Given the description of an element on the screen output the (x, y) to click on. 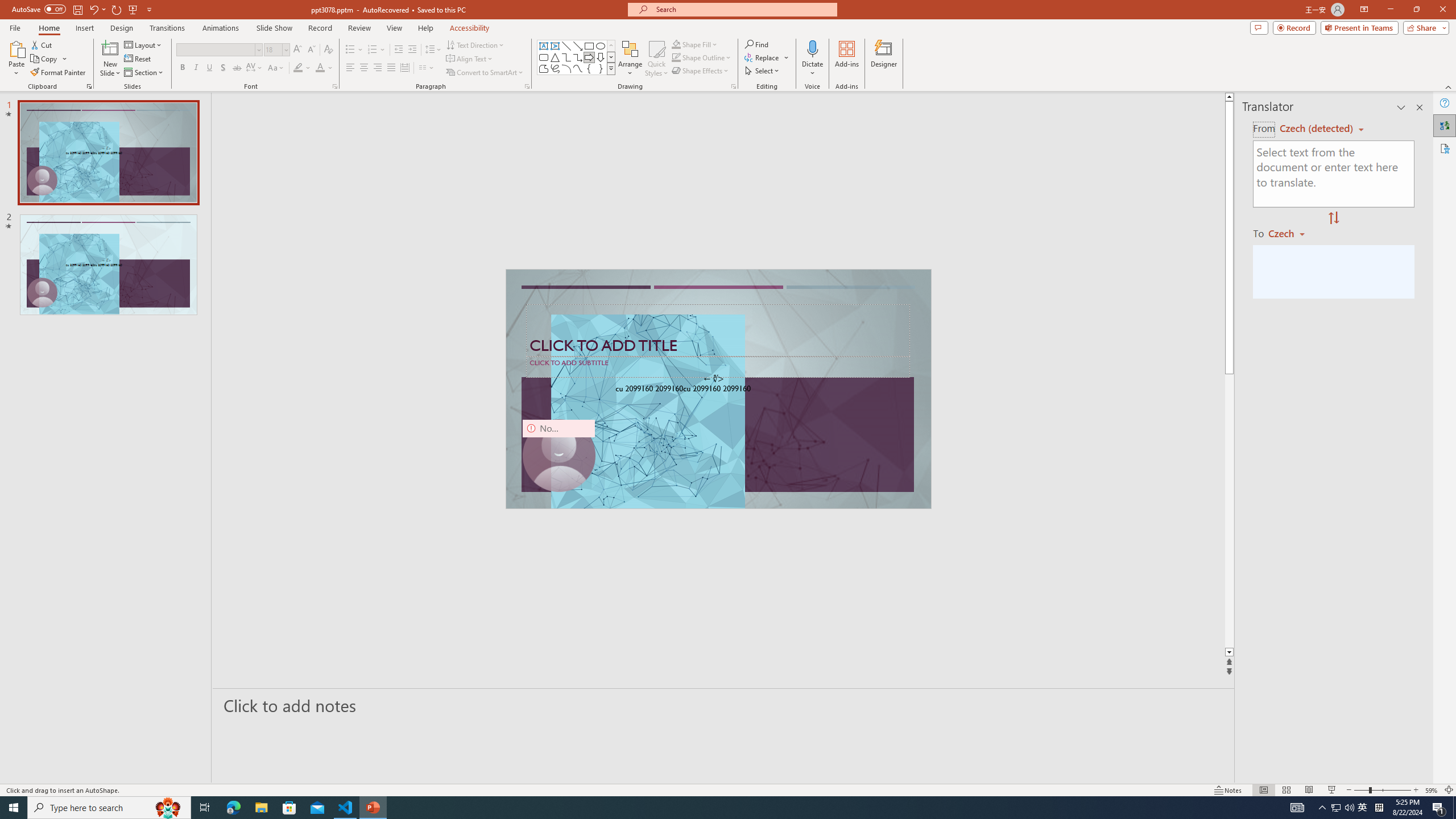
TextBox 61 (717, 389)
